Given the description of an element on the screen output the (x, y) to click on. 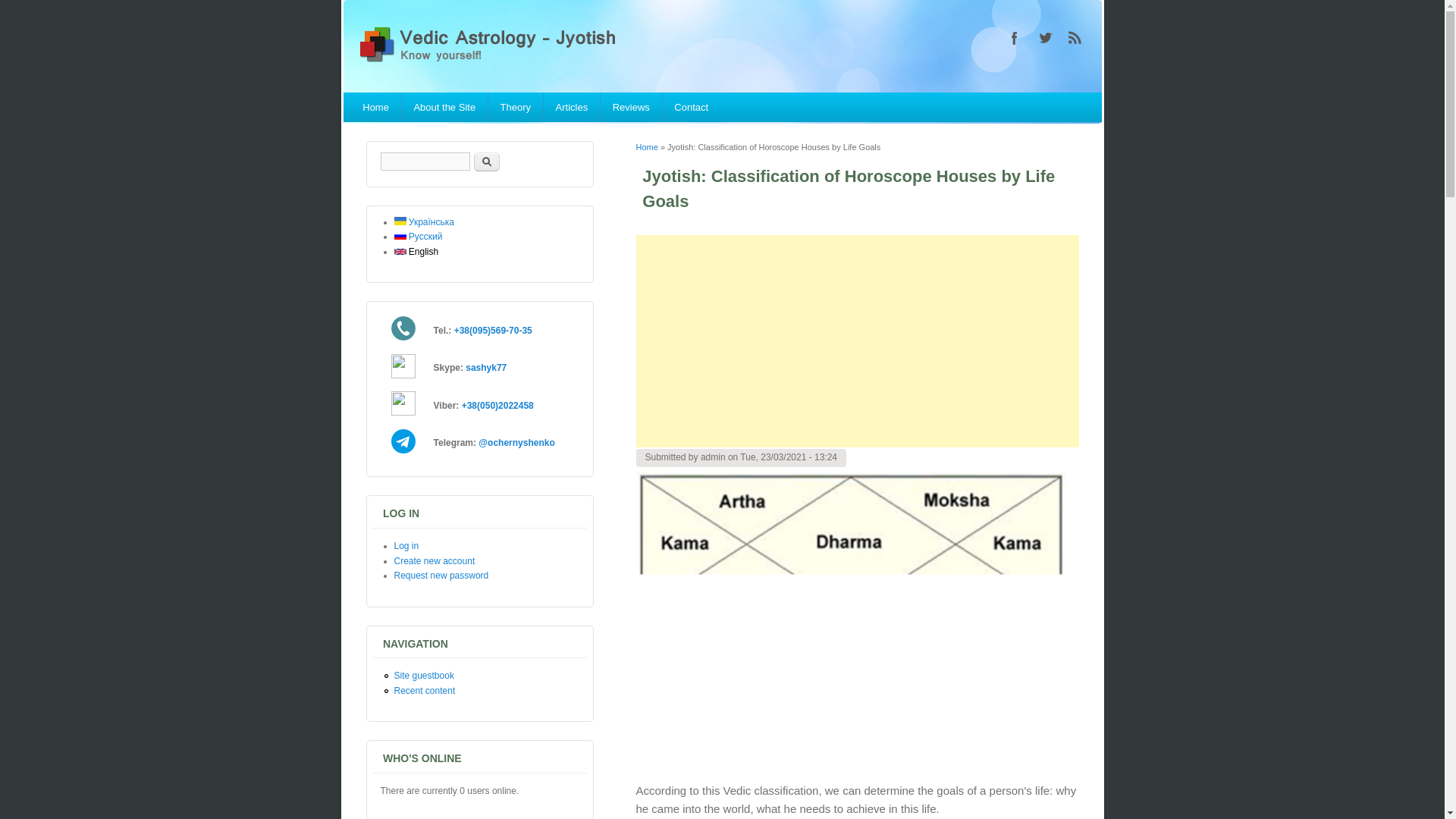
Search (486, 161)
Contact (691, 107)
Reviews (630, 107)
Theory (515, 107)
About the Site (444, 107)
Search (486, 161)
English (416, 251)
sashyk77 (485, 367)
Articles (571, 107)
Jyotish: Classification of Horoscope Houses by Life Goals (416, 251)
